Given the description of an element on the screen output the (x, y) to click on. 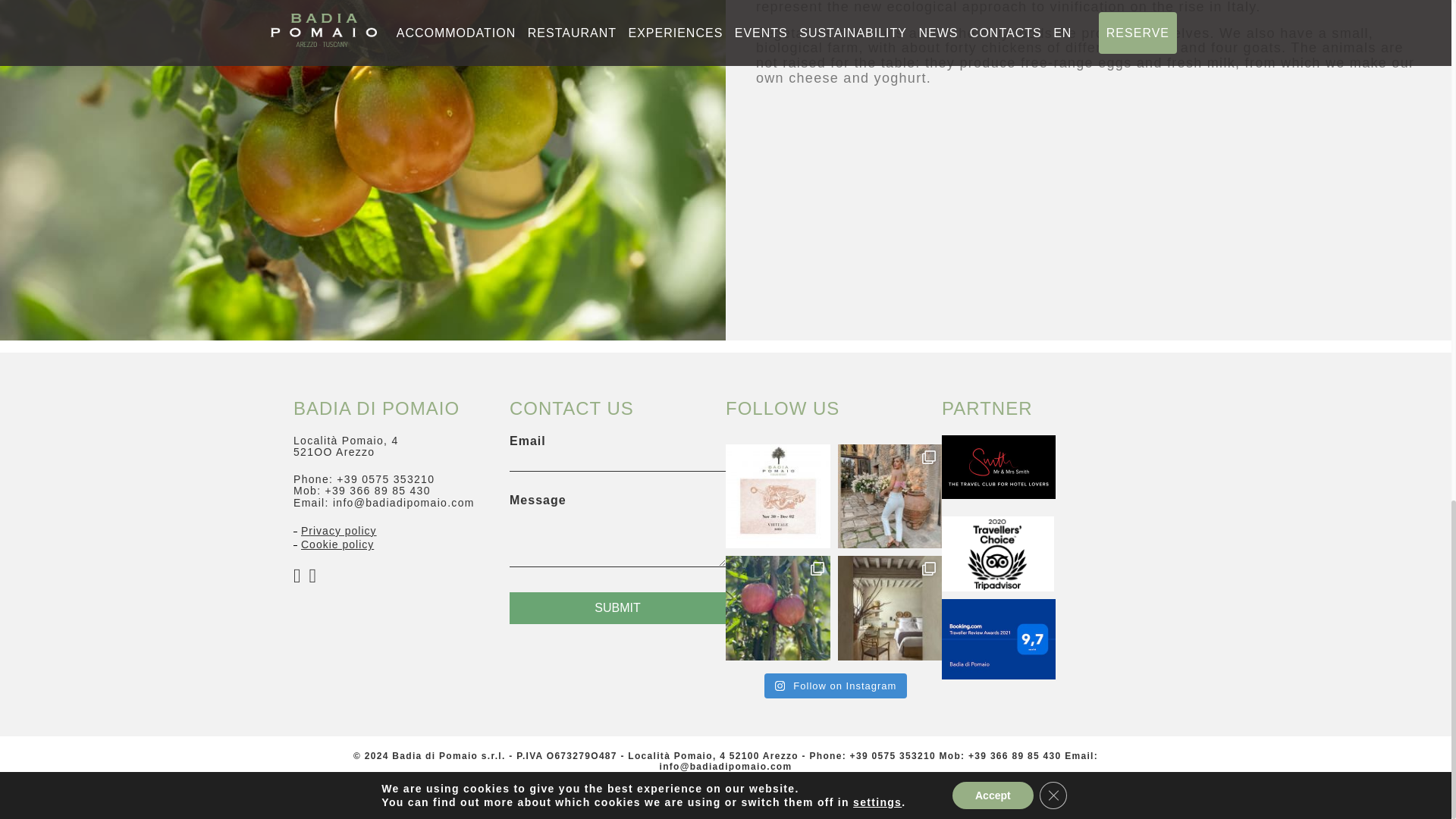
Privacy policy (339, 530)
Submit (617, 608)
Cookie policy (337, 544)
Submit (617, 608)
